Given the description of an element on the screen output the (x, y) to click on. 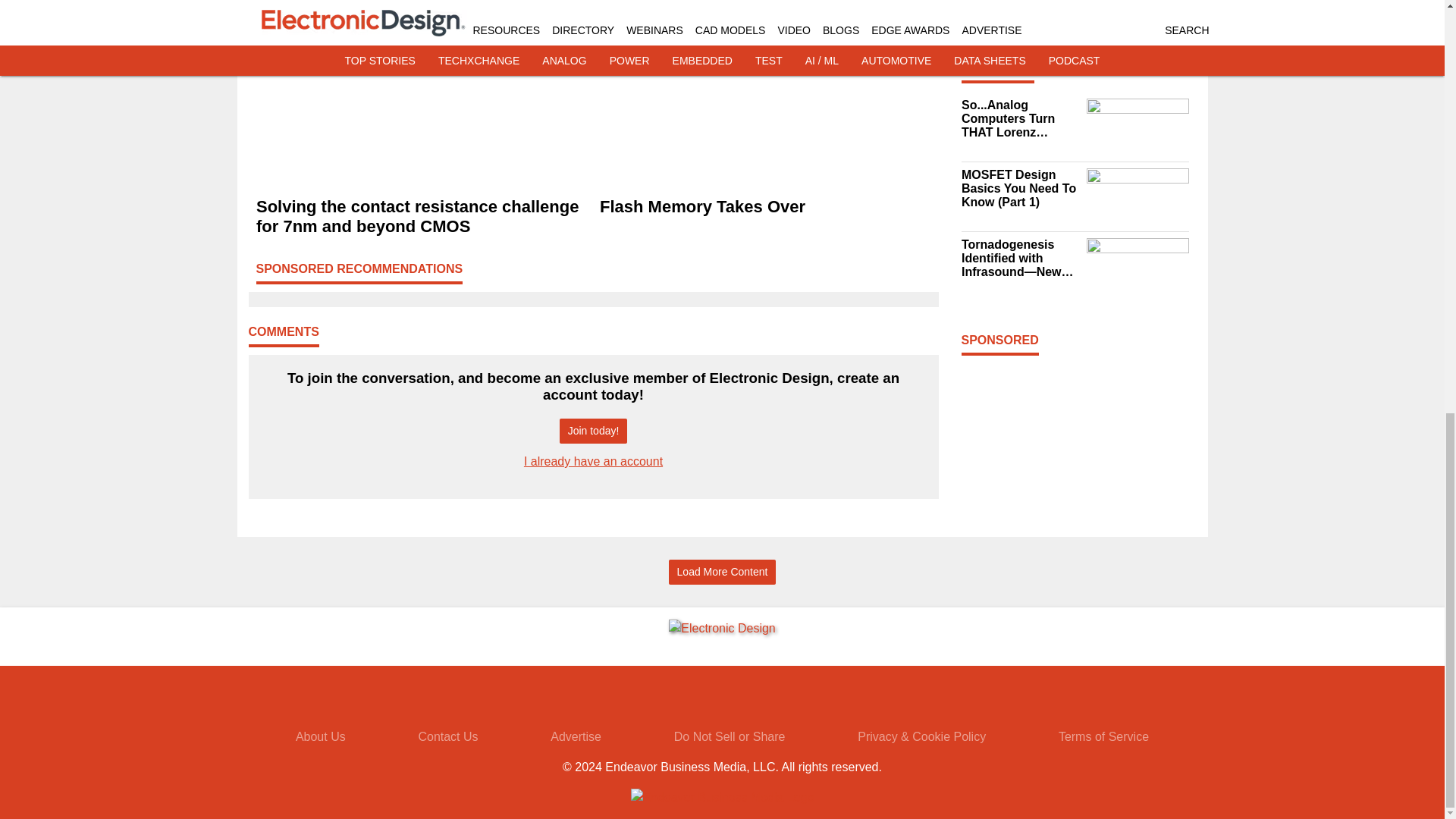
Flash Memory Takes Over (764, 207)
I already have an account (593, 461)
Join today! (593, 430)
